Given the description of an element on the screen output the (x, y) to click on. 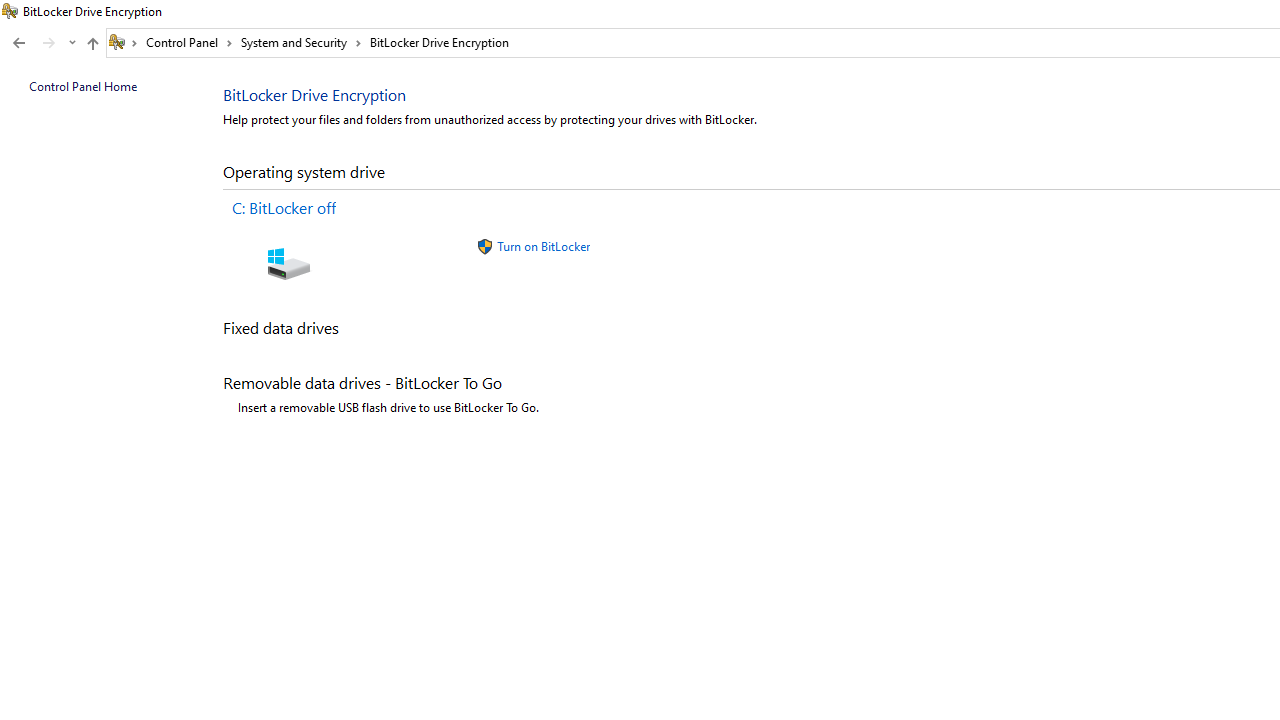
Control Panel (189, 42)
BitLocker Drive Encryption (439, 42)
Forward (Alt + Right Arrow) (49, 43)
Back to System and Security (Alt + Left Arrow) (18, 43)
System and Security (301, 42)
Recent locations (71, 43)
Control Panel Home (82, 86)
Up to "System and Security" (Alt + Up Arrow) (92, 43)
Turn on BitLocker (543, 246)
All locations (124, 42)
System (10, 11)
Up band toolbar (92, 46)
Navigation buttons (41, 43)
System (10, 11)
